Given the description of an element on the screen output the (x, y) to click on. 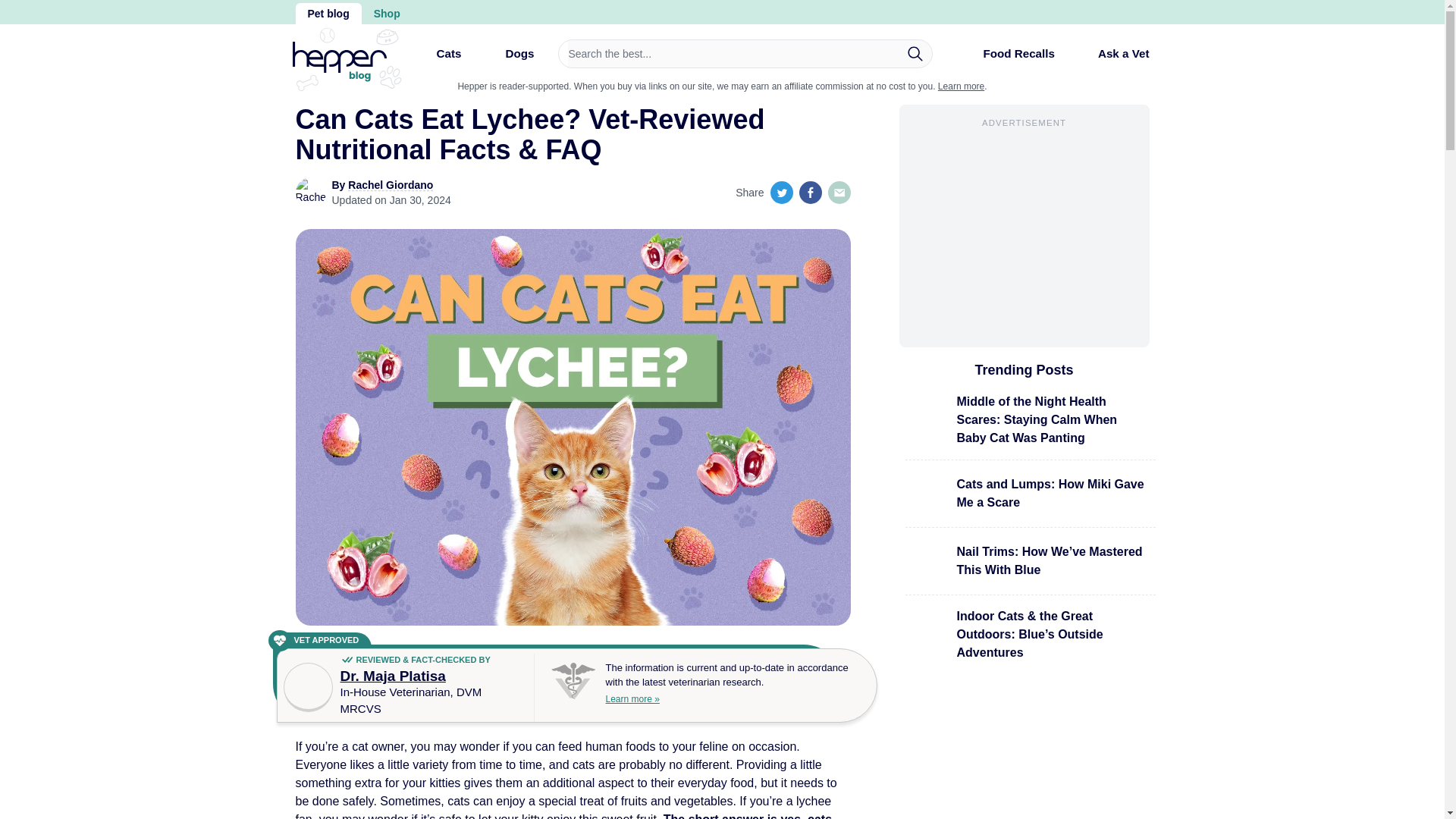
Dogs (506, 59)
Food Recalls (1005, 59)
Rachel Giordano (389, 184)
Cats (435, 59)
Dr. Maja Platisa (392, 675)
Learn more (960, 86)
Shop (387, 13)
Vet photo (308, 686)
Ask a Vet (1111, 53)
